Given the description of an element on the screen output the (x, y) to click on. 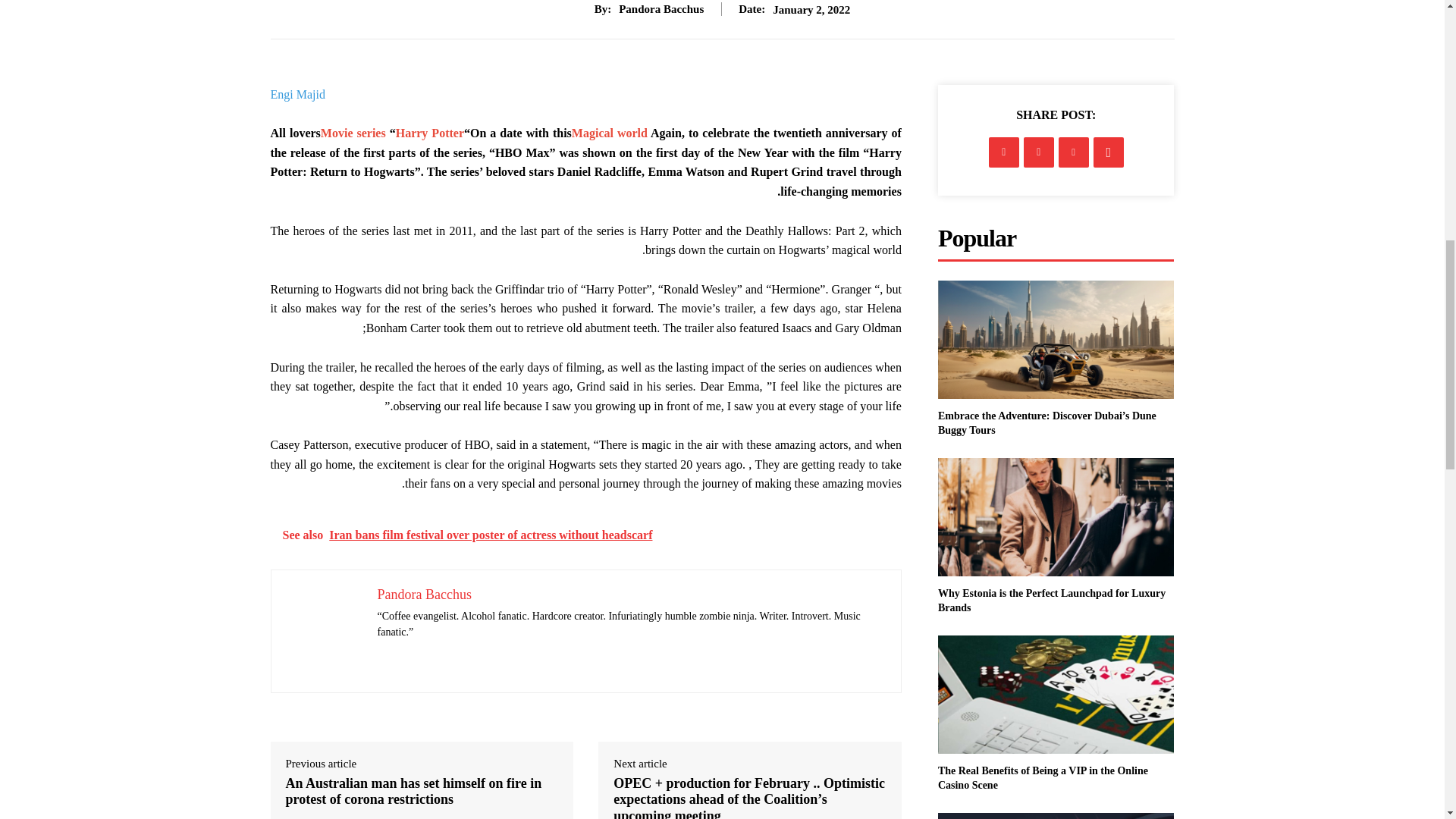
Pinterest (1073, 152)
Why Estonia is the Perfect Launchpad for Luxury Brands (1051, 601)
The Real Benefits of Being a VIP in the Online Casino Scene (1042, 777)
Why Estonia is the Perfect Launchpad for Luxury Brands (1055, 516)
Facebook (1003, 152)
The Real Benefits of Being a VIP in the Online Casino Scene (1055, 694)
Twitter (1038, 152)
WhatsApp (1108, 152)
